Given the description of an element on the screen output the (x, y) to click on. 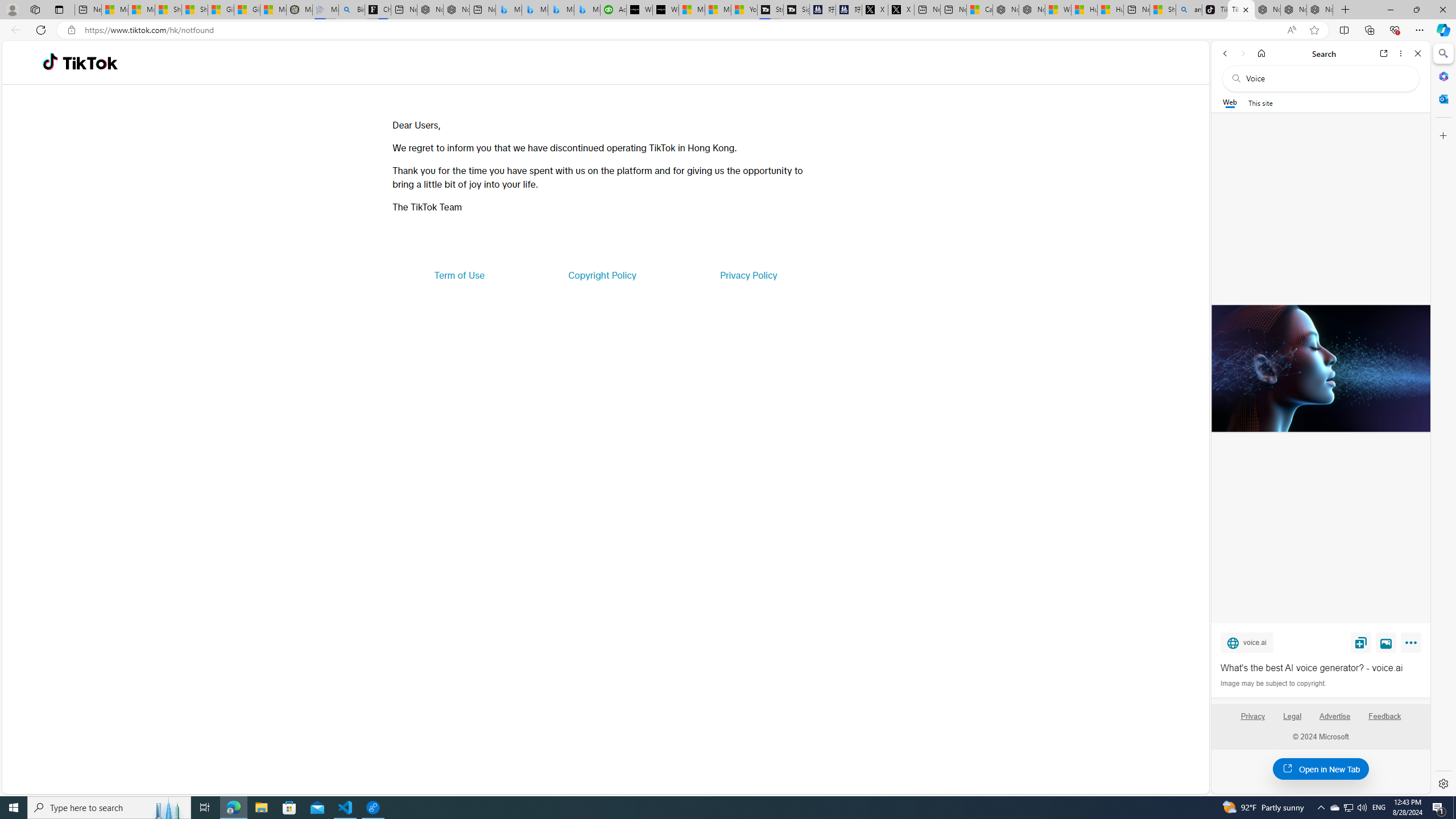
Forward (1242, 53)
Copyright Policy (601, 274)
Privacy (1252, 715)
TikTok (89, 62)
